Given the description of an element on the screen output the (x, y) to click on. 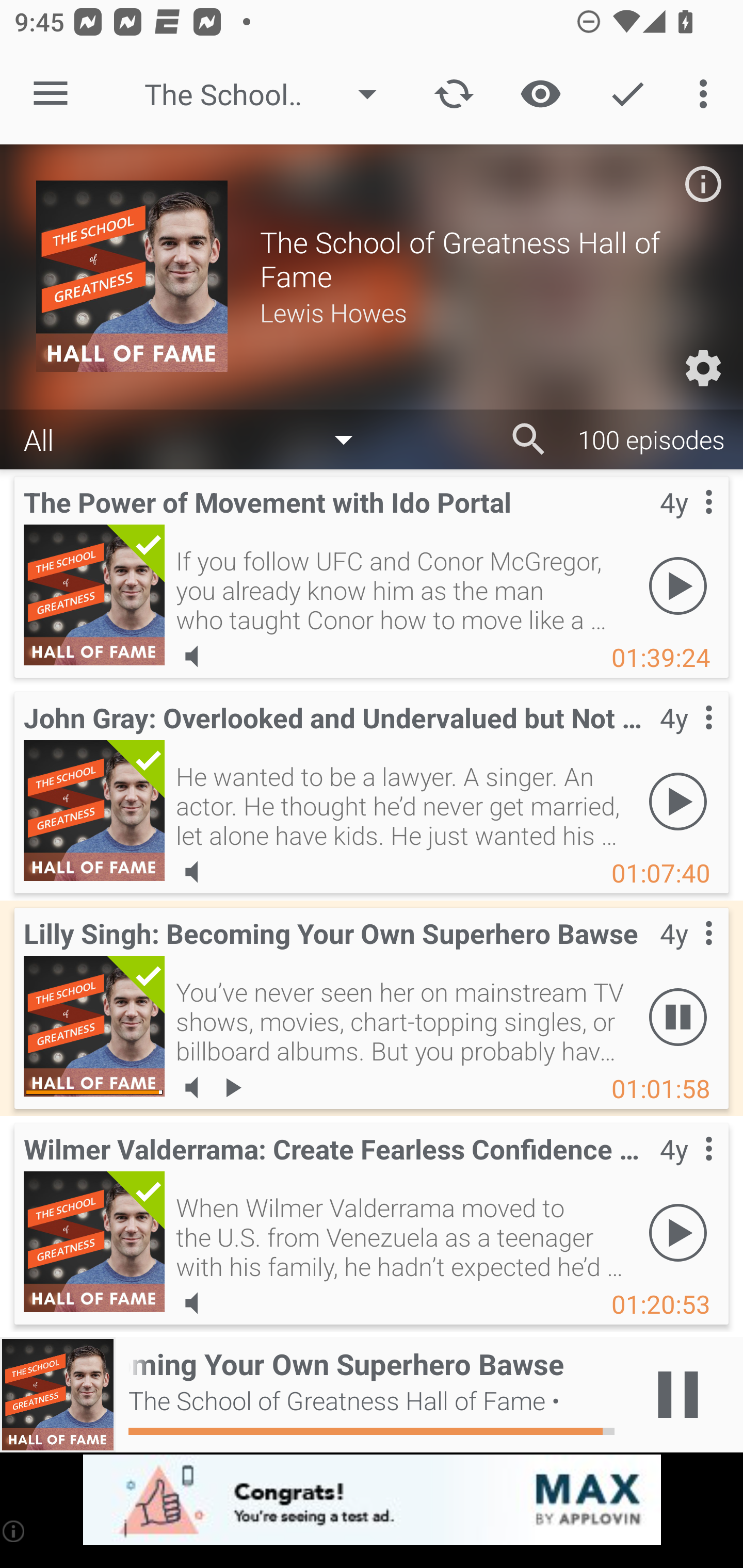
Open navigation sidebar (50, 93)
Update (453, 93)
Show / Hide played content (540, 93)
Action Mode (626, 93)
More options (706, 93)
The School of Greatness Hall of Fame (270, 94)
Podcast description (703, 184)
Lewis Howes (483, 311)
Custom Settings (703, 368)
Search (528, 439)
All (197, 438)
Contextual menu (685, 522)
The Power of Movement with Ido Portal (93, 594)
Play (677, 585)
Contextual menu (685, 738)
Play (677, 801)
Contextual menu (685, 954)
Lilly Singh: Becoming Your Own Superhero Bawse (93, 1026)
Pause (677, 1016)
Contextual menu (685, 1169)
Play (677, 1232)
Play / Pause (677, 1394)
app-monetization (371, 1500)
(i) (14, 1531)
